Given the description of an element on the screen output the (x, y) to click on. 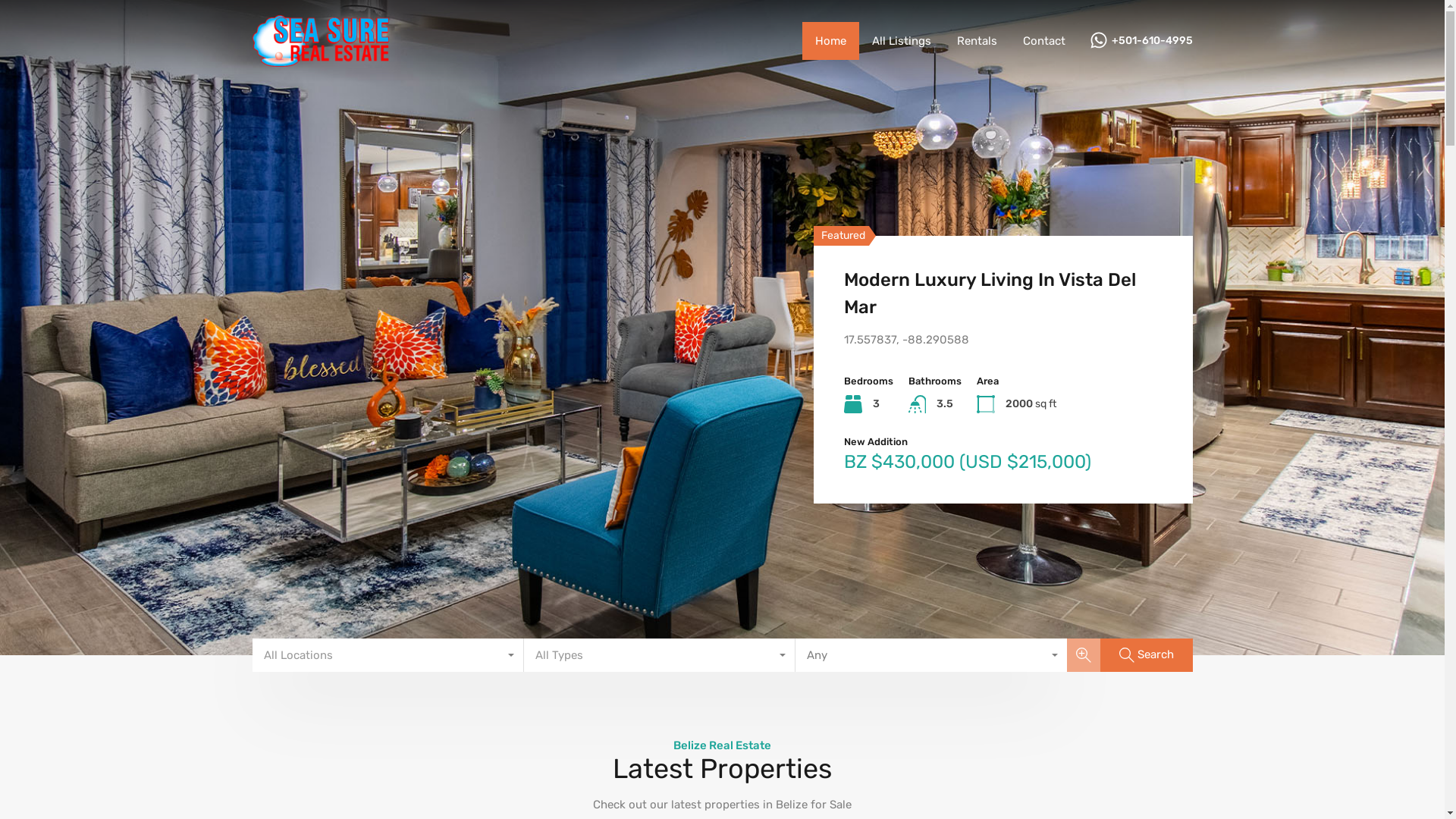
Home Element type: text (830, 40)
All Locations Element type: text (387, 654)
All Types Element type: text (658, 654)
Modern Luxury Living In Vista Del Mar Element type: text (1002, 293)
Rentals Element type: text (976, 40)
Sea Sure Real Estate Belize Element type: hover (319, 59)
Any Element type: text (930, 654)
Search Element type: text (1145, 654)
All Listings Element type: text (900, 40)
+501-610-4995 Element type: text (1151, 40)
Contact Element type: text (1044, 40)
